Given the description of an element on the screen output the (x, y) to click on. 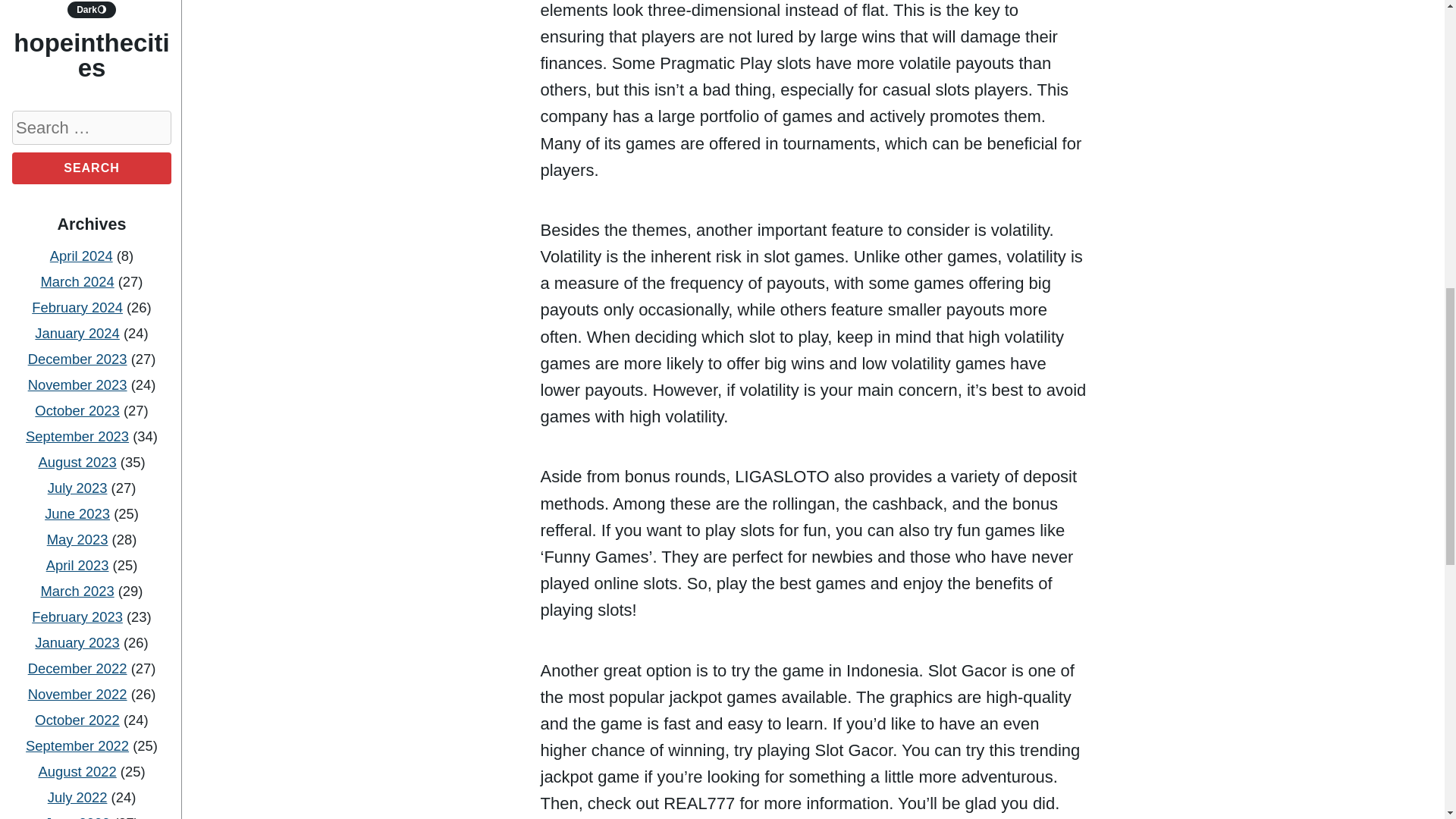
keluaran sgp (91, 695)
May 2022 (76, 40)
June 2022 (77, 14)
Gambling (92, 424)
How to Develop a Winning Poker Strategy (90, 282)
taruhan bola (91, 474)
What Is a Slot? (92, 197)
How to Open a Sportsbook (91, 160)
togel dana (91, 575)
April 2022 (81, 66)
The Problems and Benefits of the Lottery (92, 330)
How to Play Casino Online (91, 234)
